Given the description of an element on the screen output the (x, y) to click on. 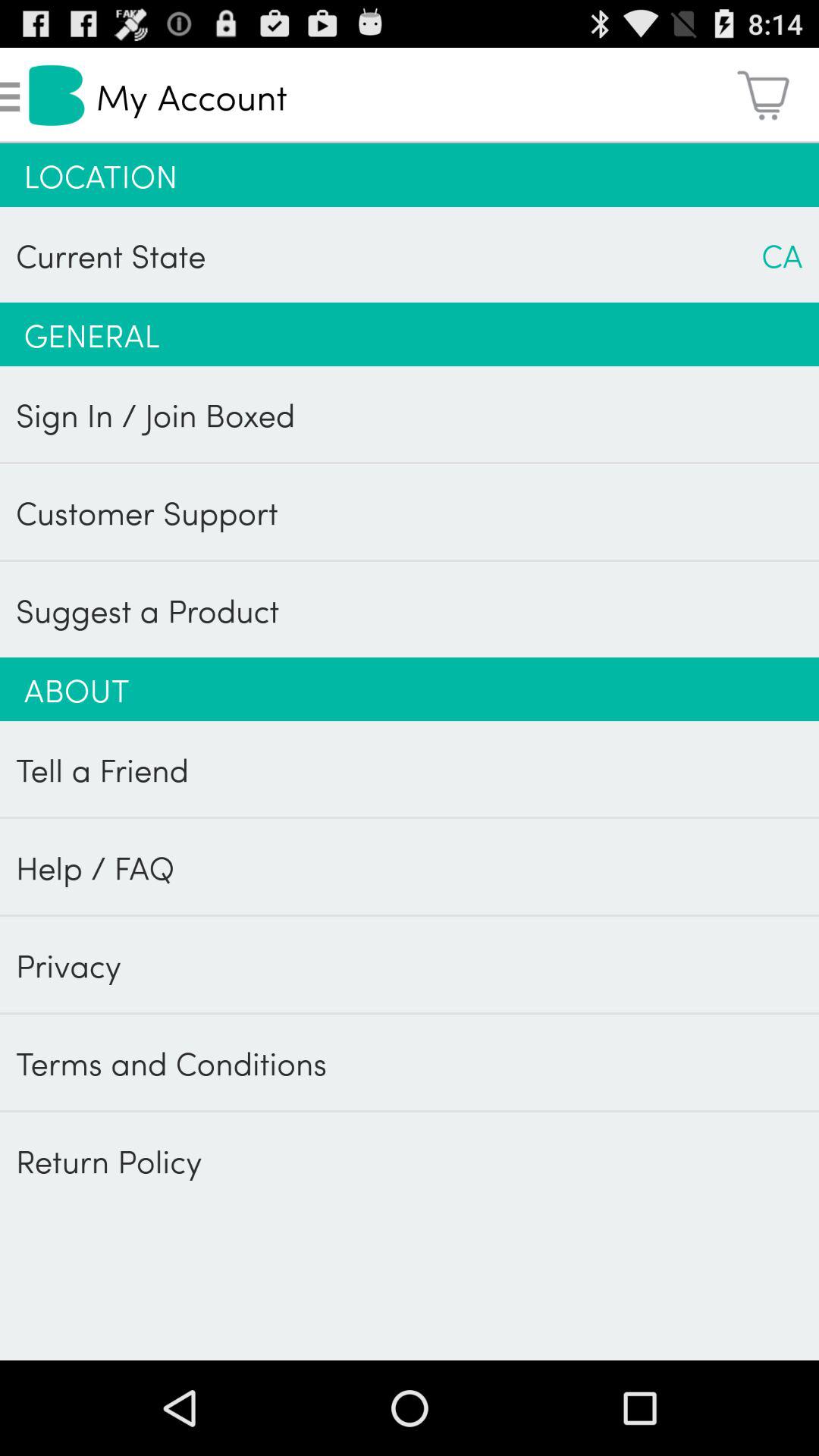
launch item above sign in join item (409, 334)
